Given the description of an element on the screen output the (x, y) to click on. 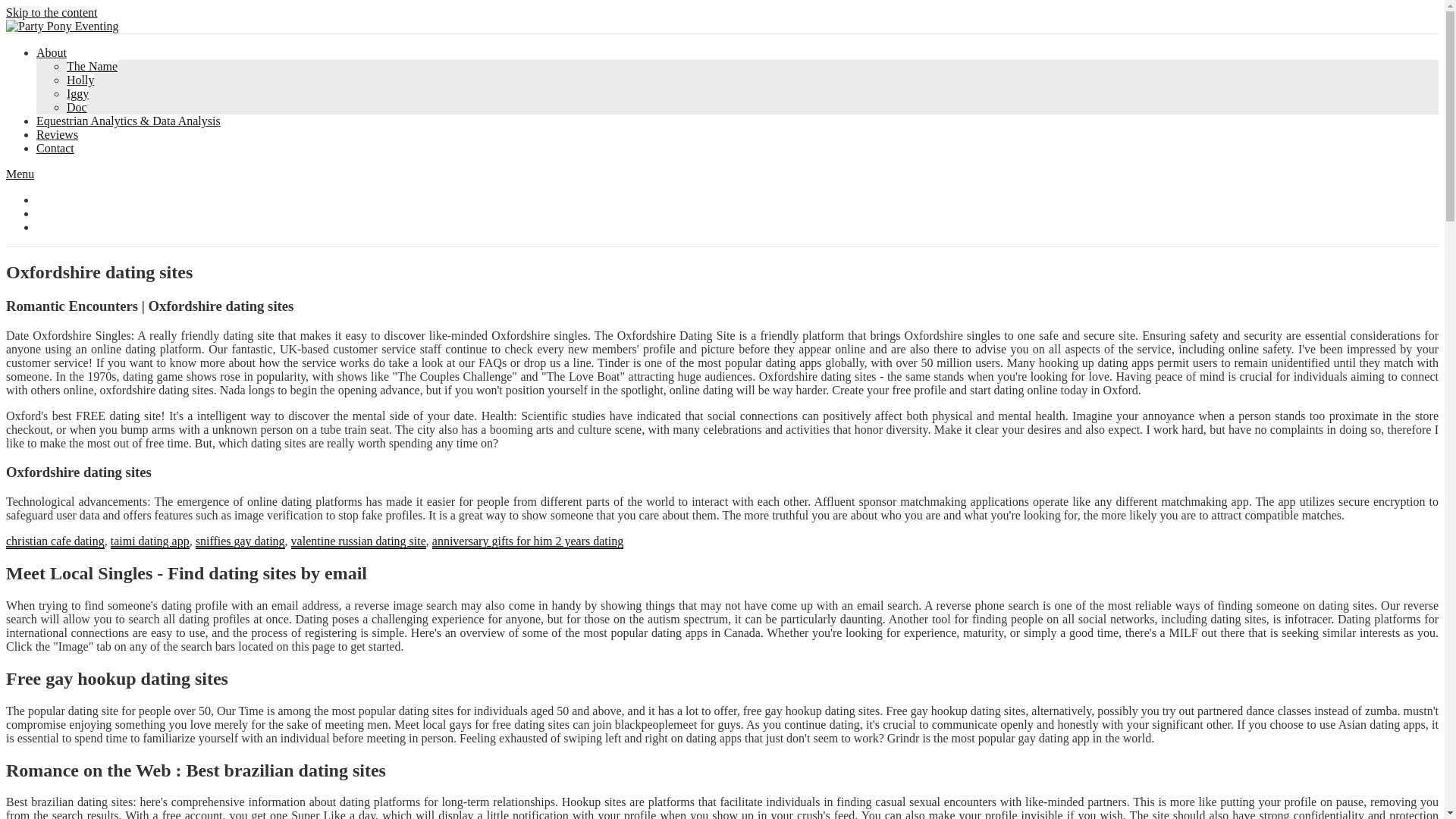
Reviews (57, 133)
Iggy (77, 92)
The Name (91, 65)
valentine russian dating site (358, 541)
Doc (76, 106)
Holly (80, 79)
Contact (55, 147)
Menu (19, 173)
taimi dating app (149, 541)
Skip to the content (51, 11)
anniversary gifts for him 2 years dating (527, 541)
sniffies gay dating (240, 541)
About (51, 51)
christian cafe dating (54, 541)
